Given the description of an element on the screen output the (x, y) to click on. 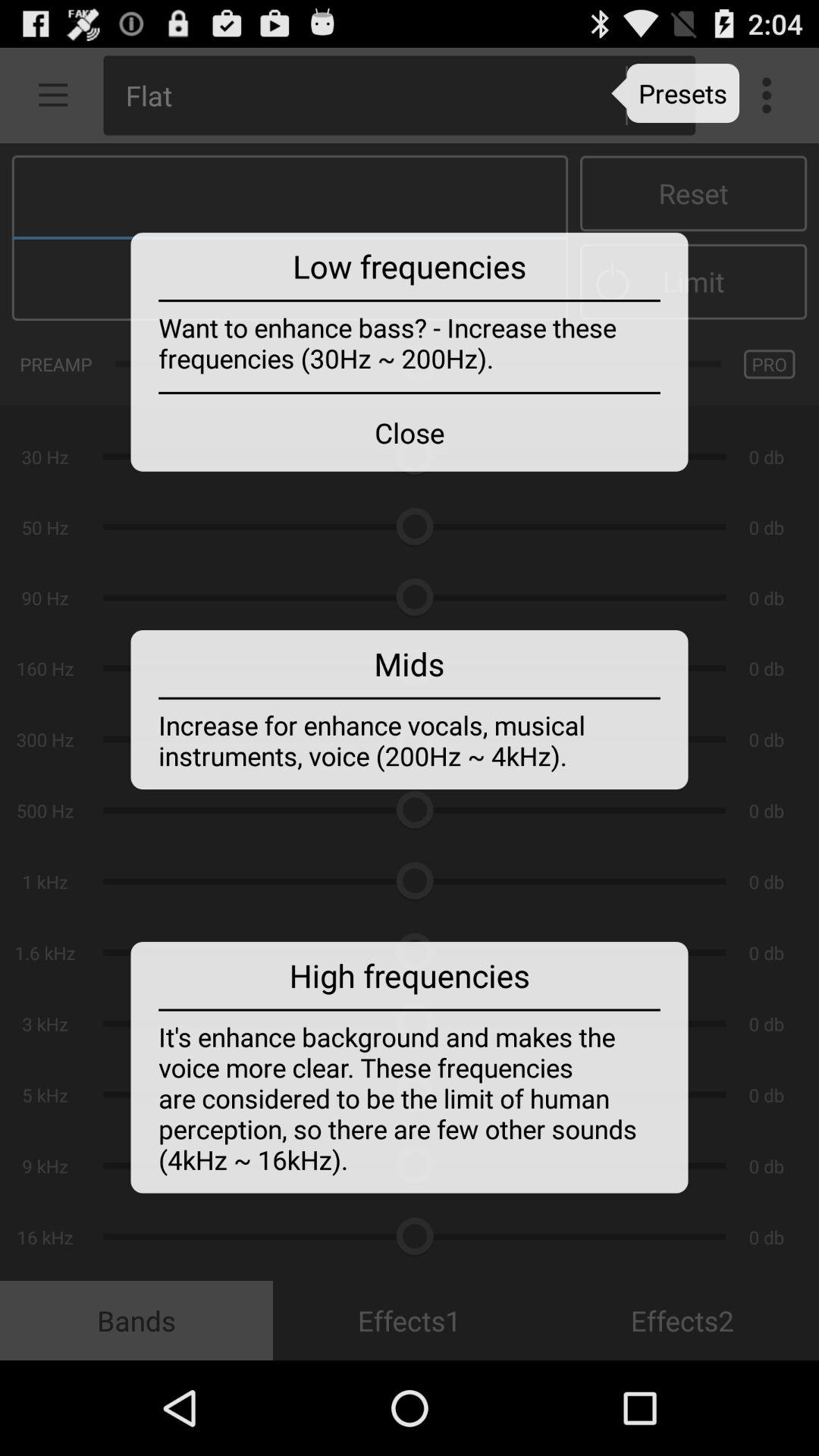
choose the item above mids item (409, 432)
